Given the description of an element on the screen output the (x, y) to click on. 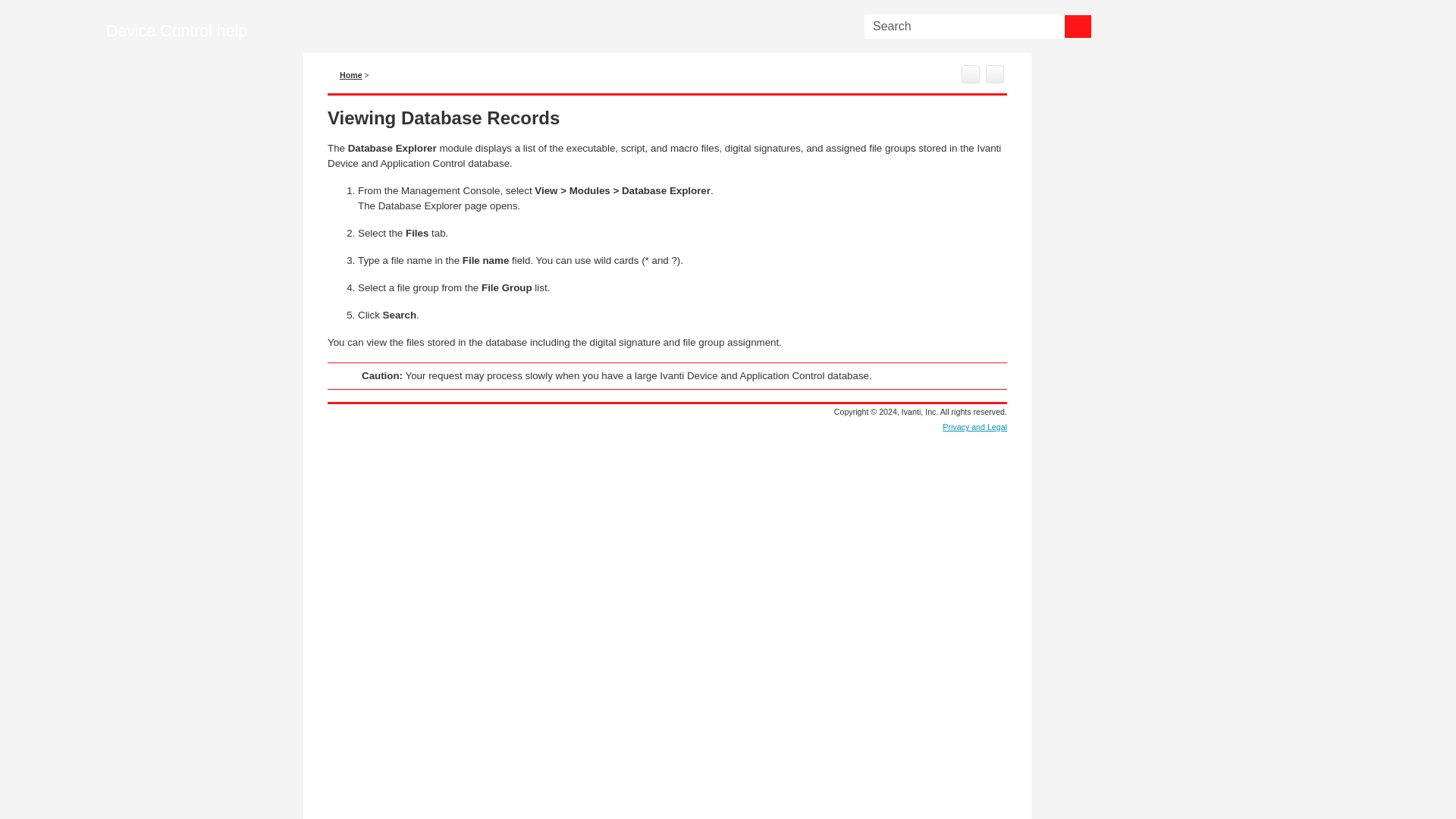
Privacy and Legal (974, 426)
Home (345, 74)
Privacy and Legal (974, 426)
Search (1078, 26)
Expand all (994, 74)
Print (969, 74)
